Given the description of an element on the screen output the (x, y) to click on. 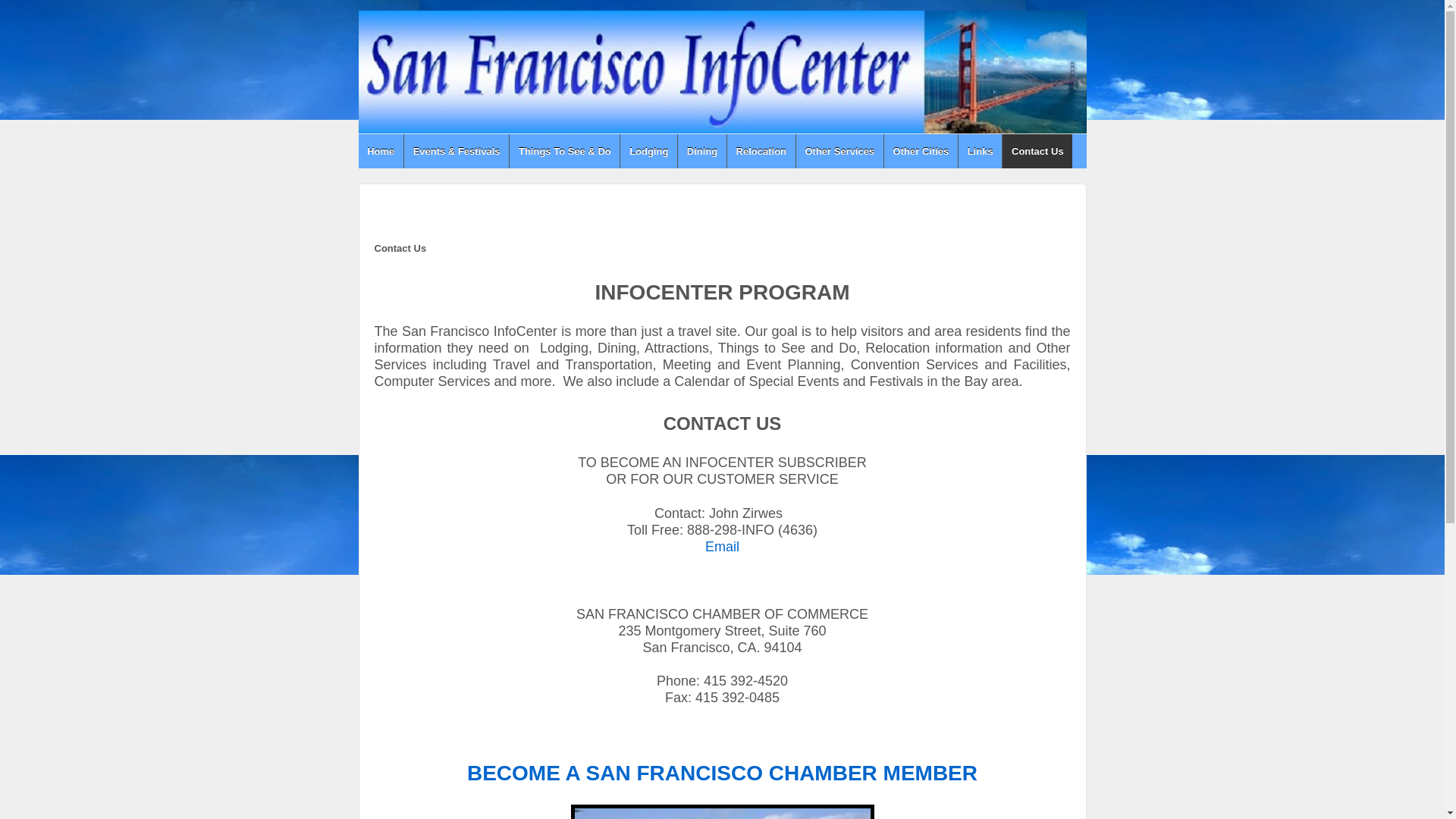
Home (380, 151)
Other Services (838, 151)
Other Cities (920, 151)
Contact Us (1036, 151)
Dining (701, 151)
Relocation (760, 151)
Links (979, 151)
Email (721, 547)
BECOME A SAN FRANCISCO CHAMBER MEMBER (721, 770)
Lodging (648, 151)
